Given the description of an element on the screen output the (x, y) to click on. 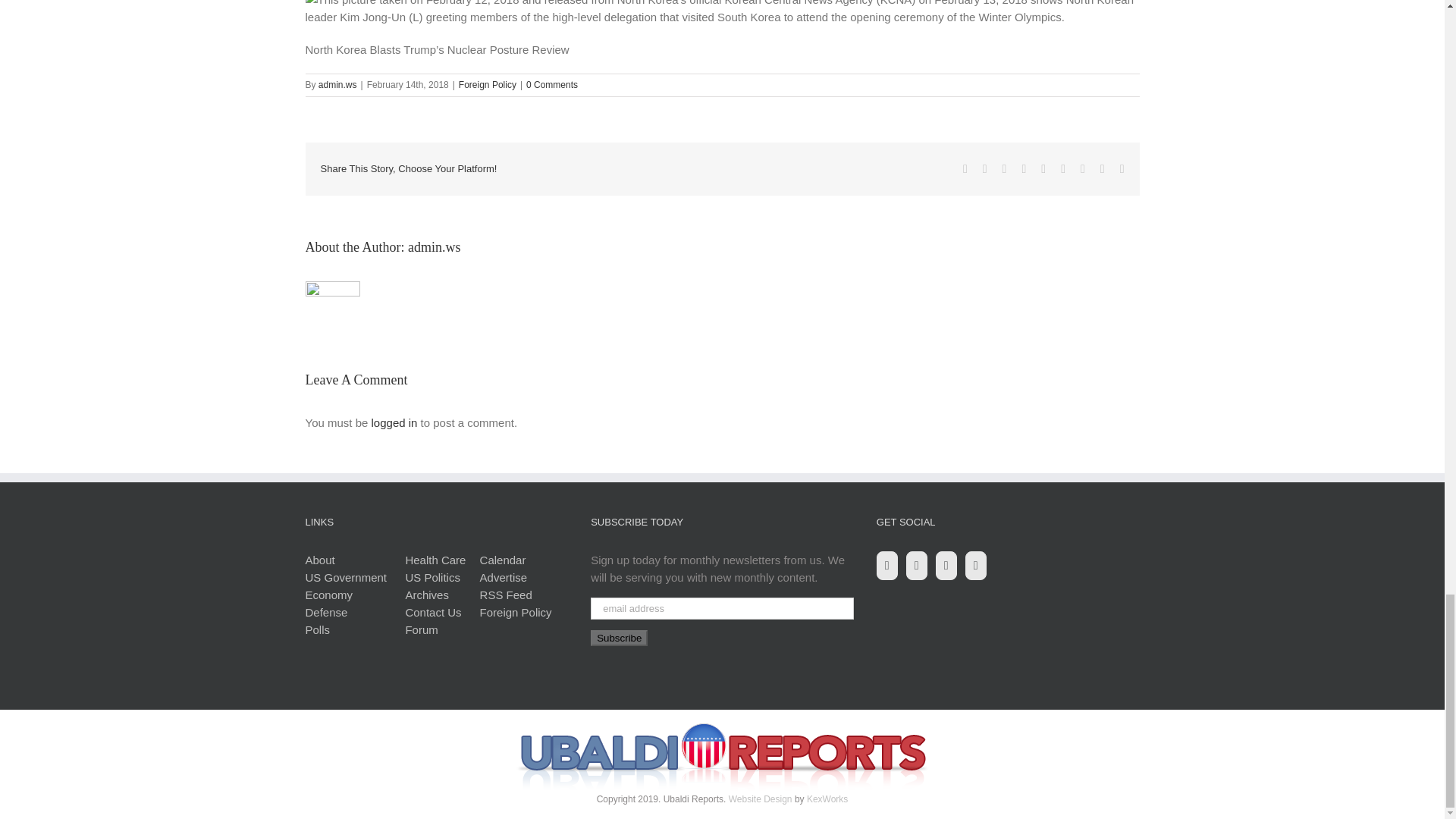
0 Comments (551, 84)
Posts by admin.ws (434, 246)
Foreign Policy (487, 84)
admin.ws (337, 84)
Subscribe (619, 637)
Posts by admin.ws (337, 84)
